Given the description of an element on the screen output the (x, y) to click on. 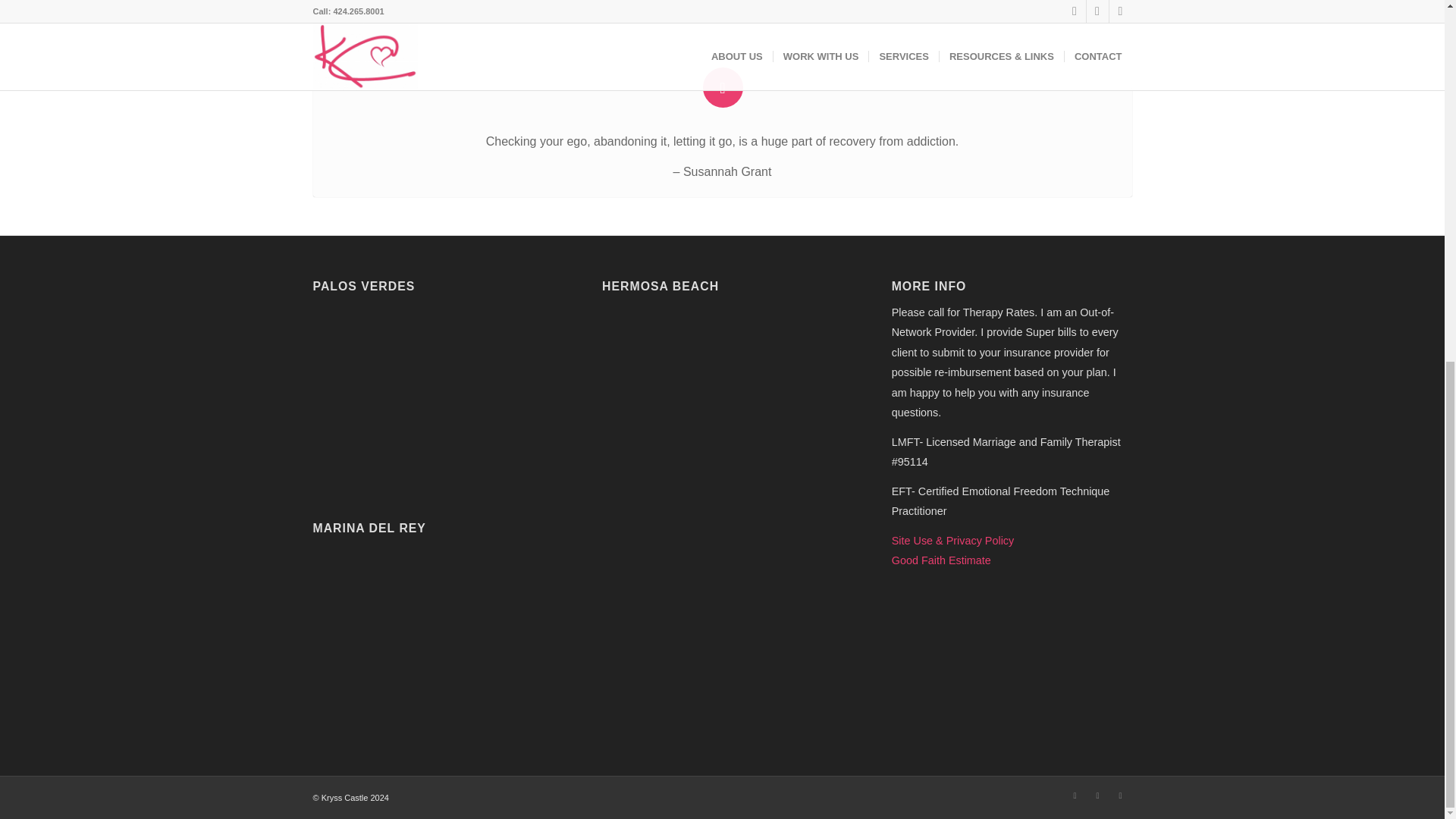
Good Faith Estimate (941, 560)
Facebook (1074, 794)
Twitter (1097, 794)
Instagram (1119, 794)
